Given the description of an element on the screen output the (x, y) to click on. 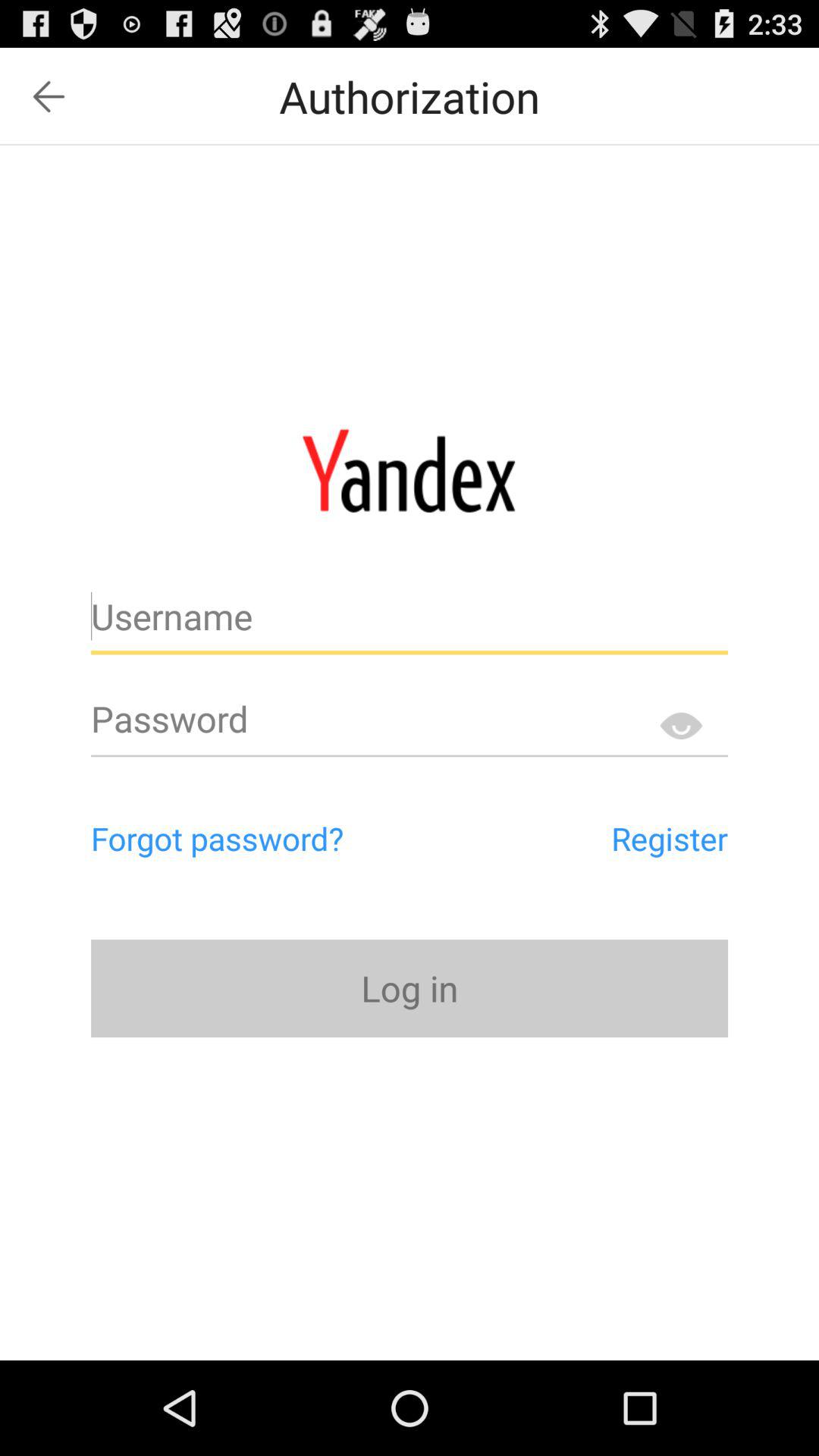
turn off the app next to the forgot password? icon (600, 837)
